Given the description of an element on the screen output the (x, y) to click on. 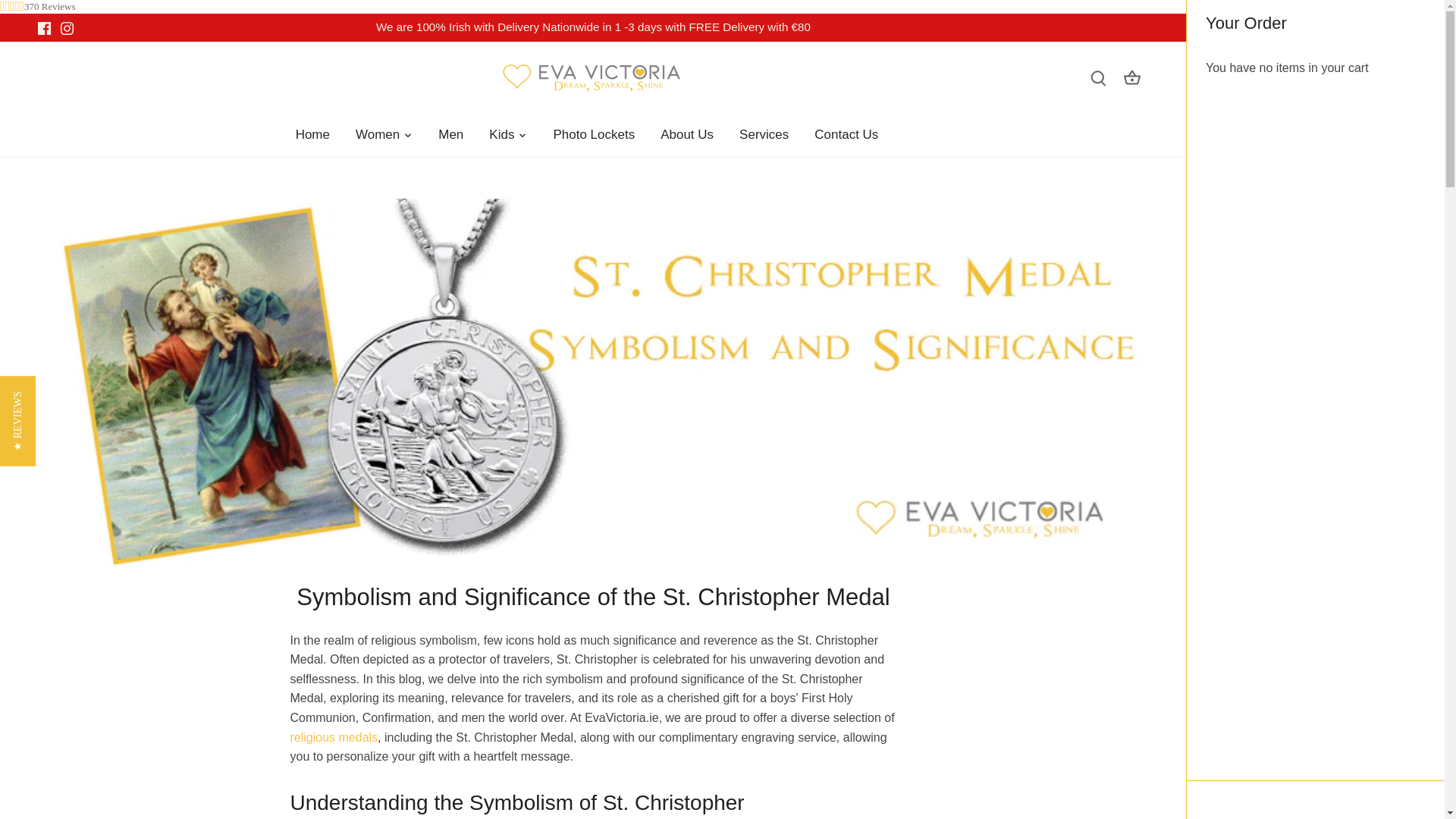
Home (318, 134)
Instagram (67, 28)
Women (377, 134)
Religious Jewellery Collection (333, 737)
370 Reviews (49, 6)
Facebook (43, 28)
